Given the description of an element on the screen output the (x, y) to click on. 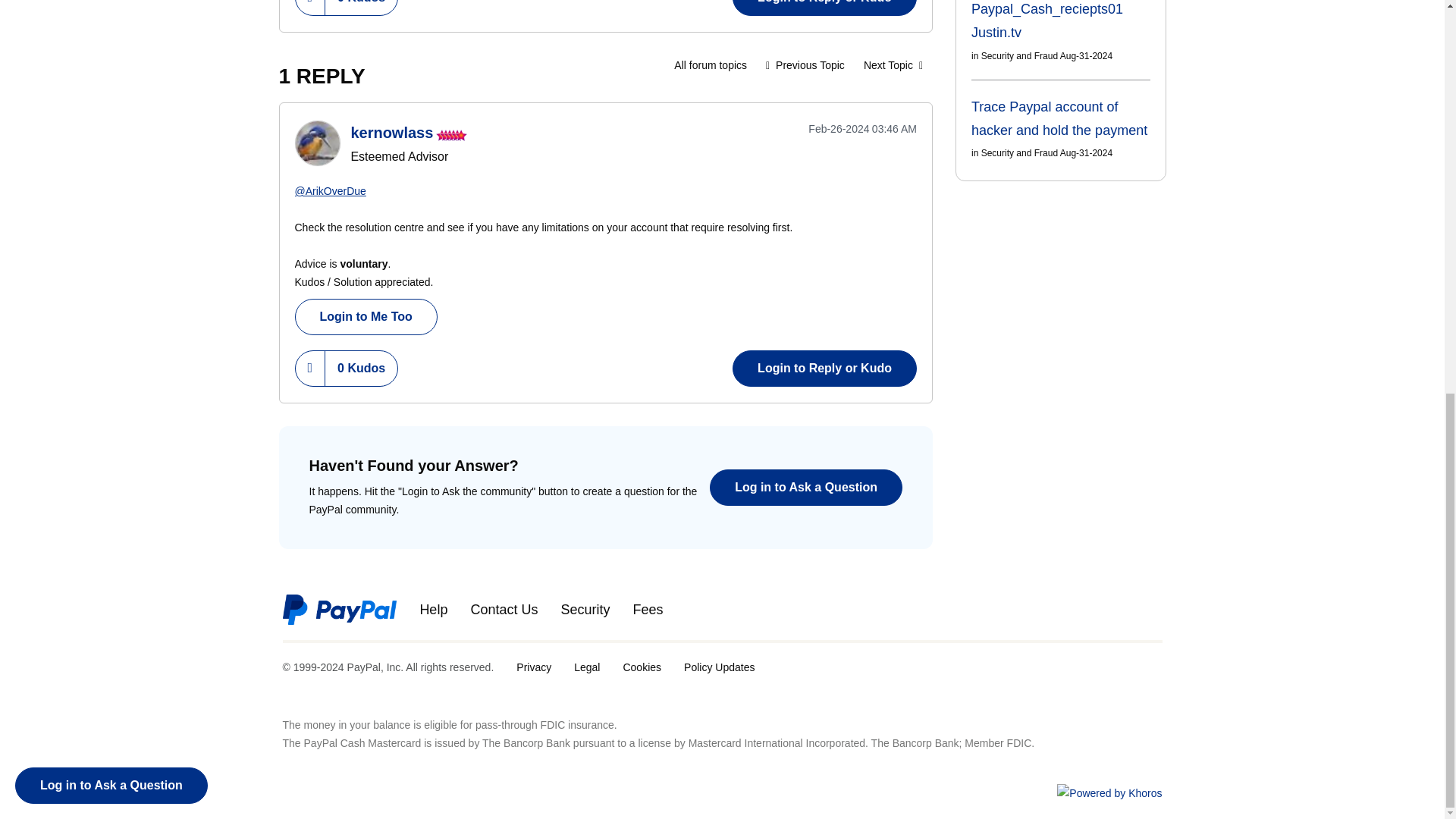
The total number of kudos this post has received. (360, 7)
Click here to give kudos to this post. (310, 7)
Security and Fraud (710, 64)
